Given the description of an element on the screen output the (x, y) to click on. 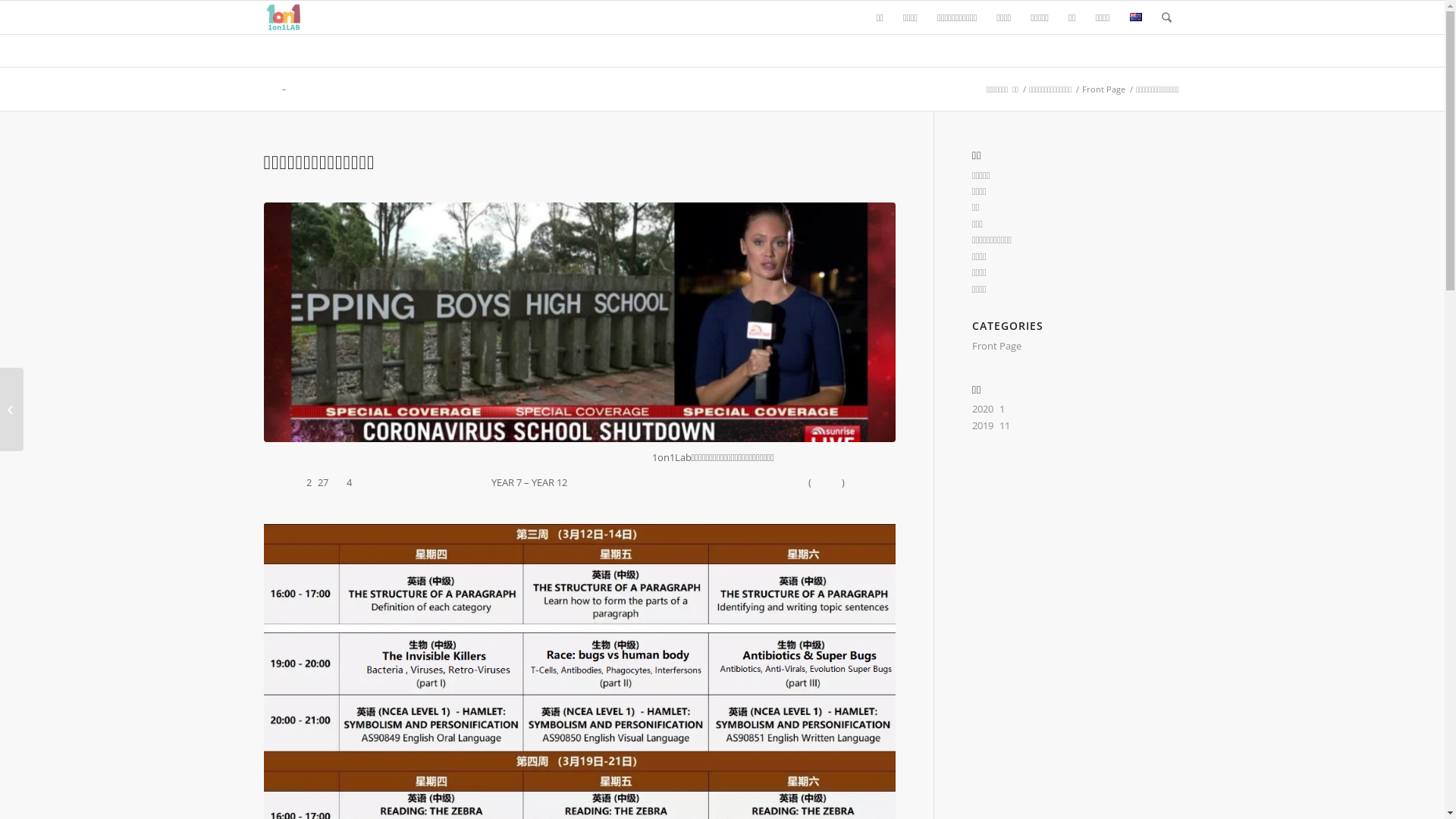
Front Page Element type: text (996, 345)
English Element type: hover (1135, 16)
Front Page Element type: text (1103, 88)
